Given the description of an element on the screen output the (x, y) to click on. 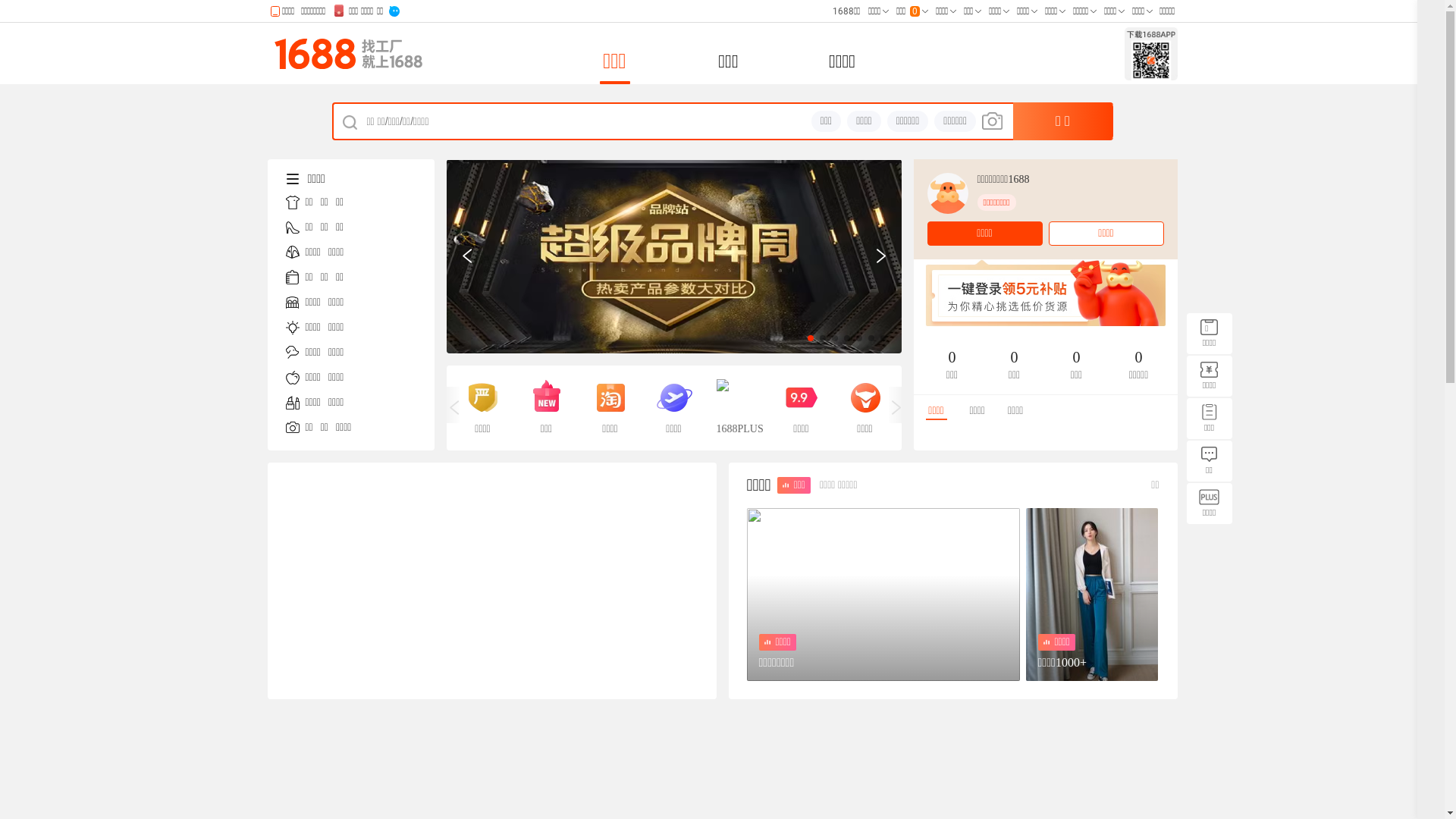
1688PLUS Element type: text (736, 407)
